Given the description of an element on the screen output the (x, y) to click on. 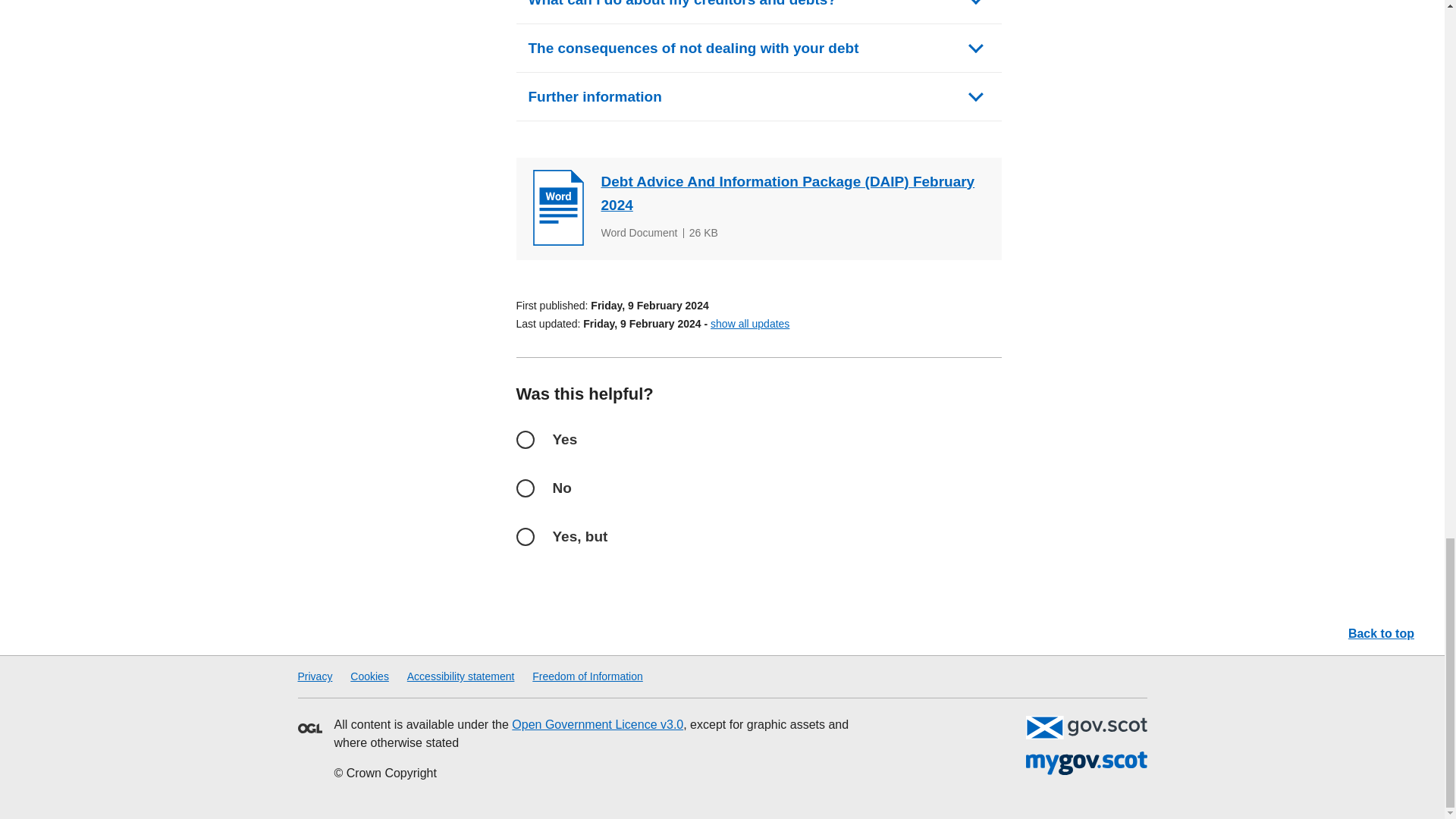
My Gov Scotland (1086, 762)
The Scottish Government (1086, 727)
